Given the description of an element on the screen output the (x, y) to click on. 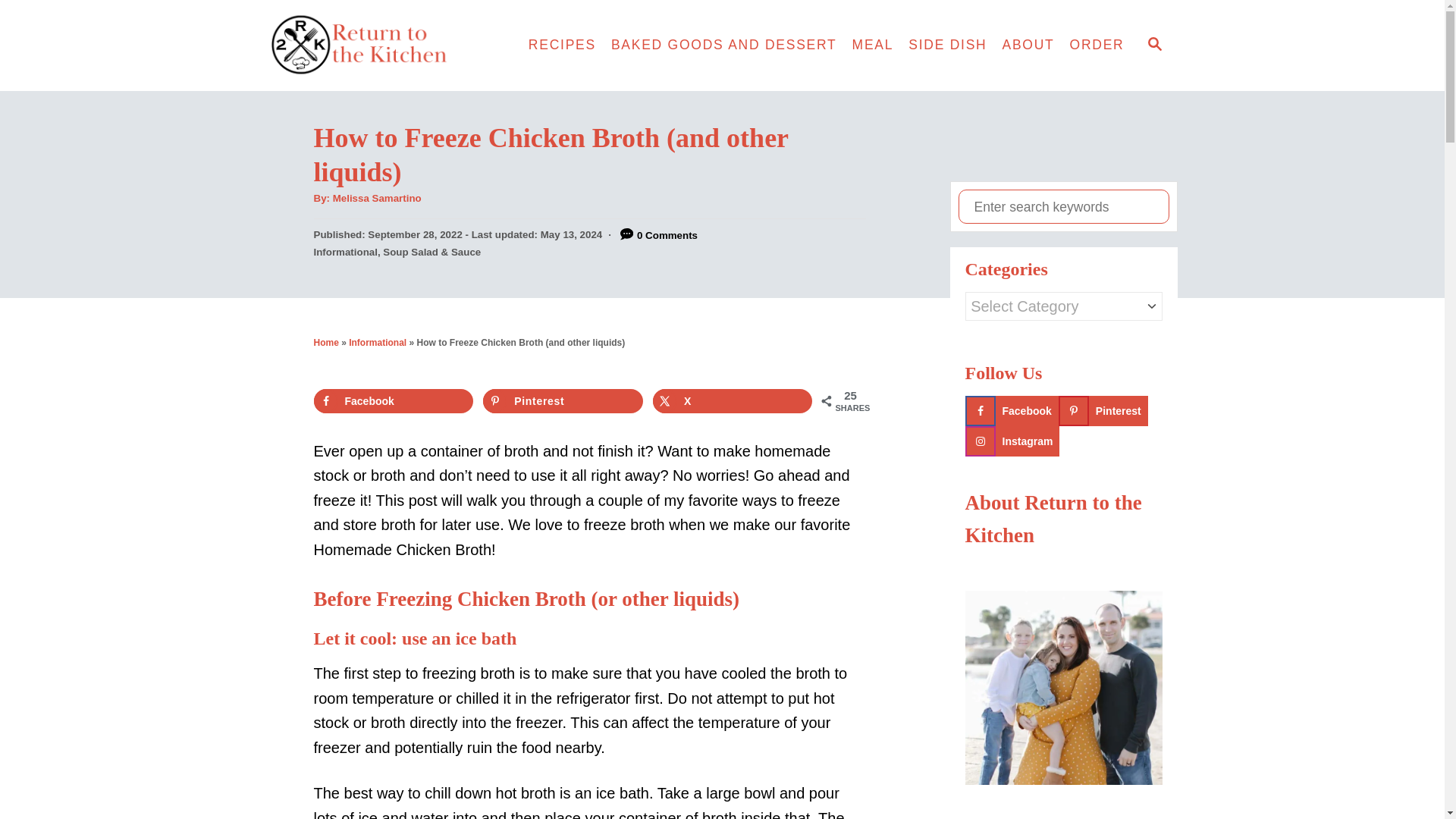
Informational (377, 342)
SEARCH (1153, 45)
ORDER (1097, 45)
Share on Facebook (394, 401)
Share on X (732, 401)
RECIPES (562, 45)
Search for: (1063, 206)
SIDE DISH (947, 45)
Return to the Kitchen (386, 45)
Follow on Pinterest (1103, 410)
